Given the description of an element on the screen output the (x, y) to click on. 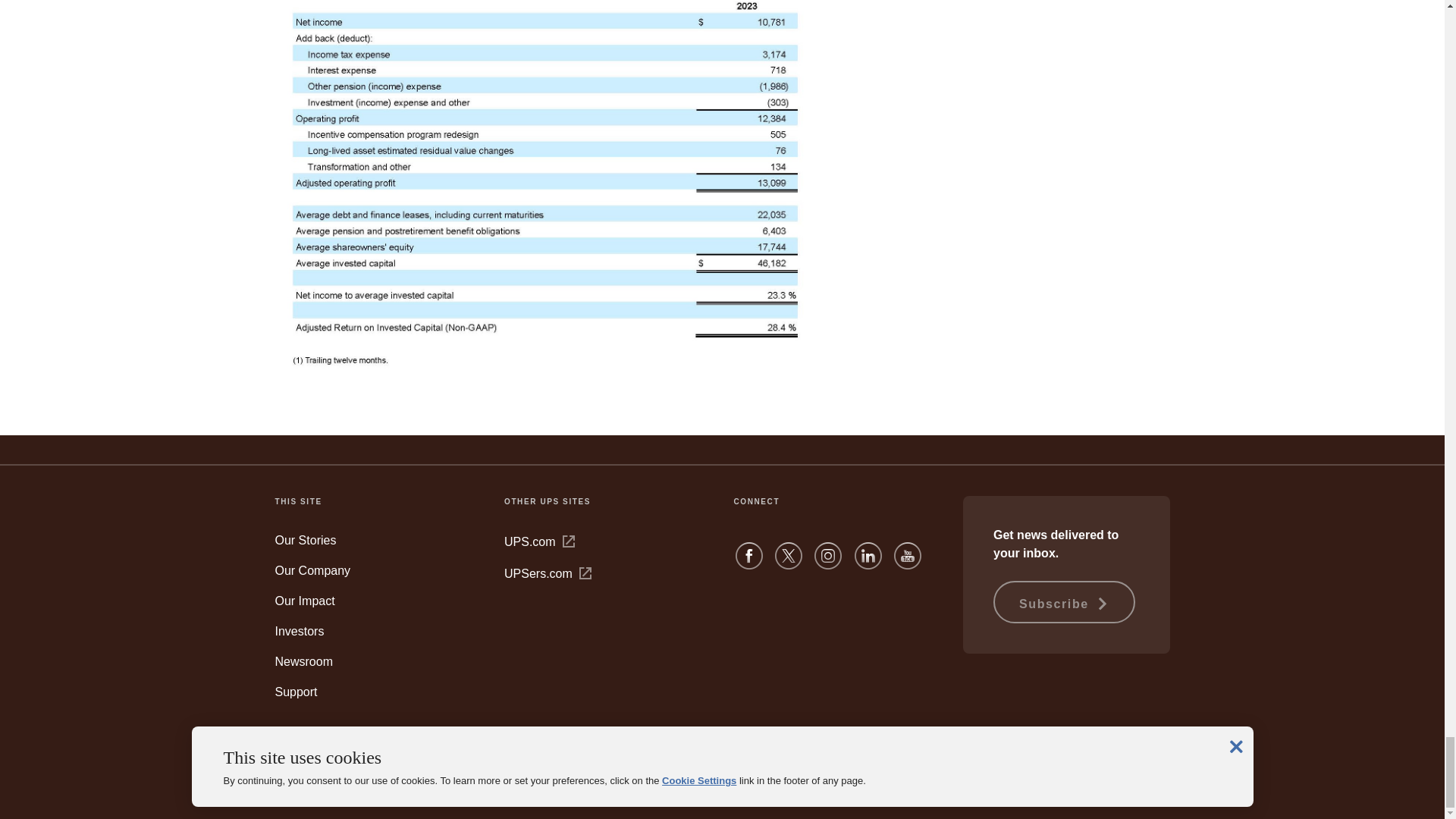
Linkedin (868, 562)
Twitter (788, 562)
Instagram (827, 562)
Youtube (907, 562)
Facebook (748, 562)
